Given the description of an element on the screen output the (x, y) to click on. 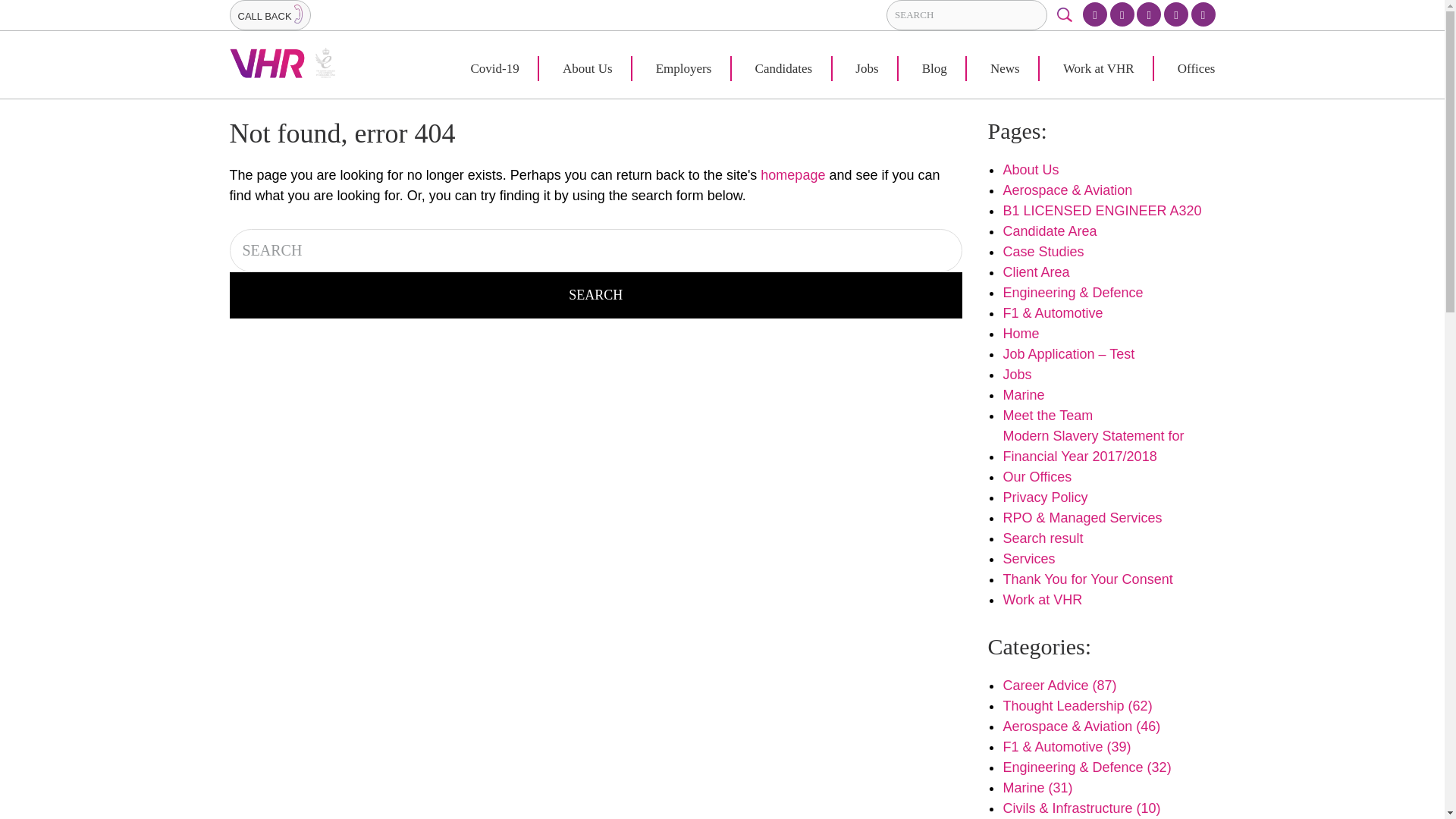
Marine (1023, 394)
Jobs (1016, 373)
Search (595, 294)
Work at VHR (1042, 599)
Search (595, 294)
News (1005, 68)
Services (1028, 558)
Candidates (783, 68)
Thank You for Your Consent (1087, 578)
Our Offices (1037, 476)
